Given the description of an element on the screen output the (x, y) to click on. 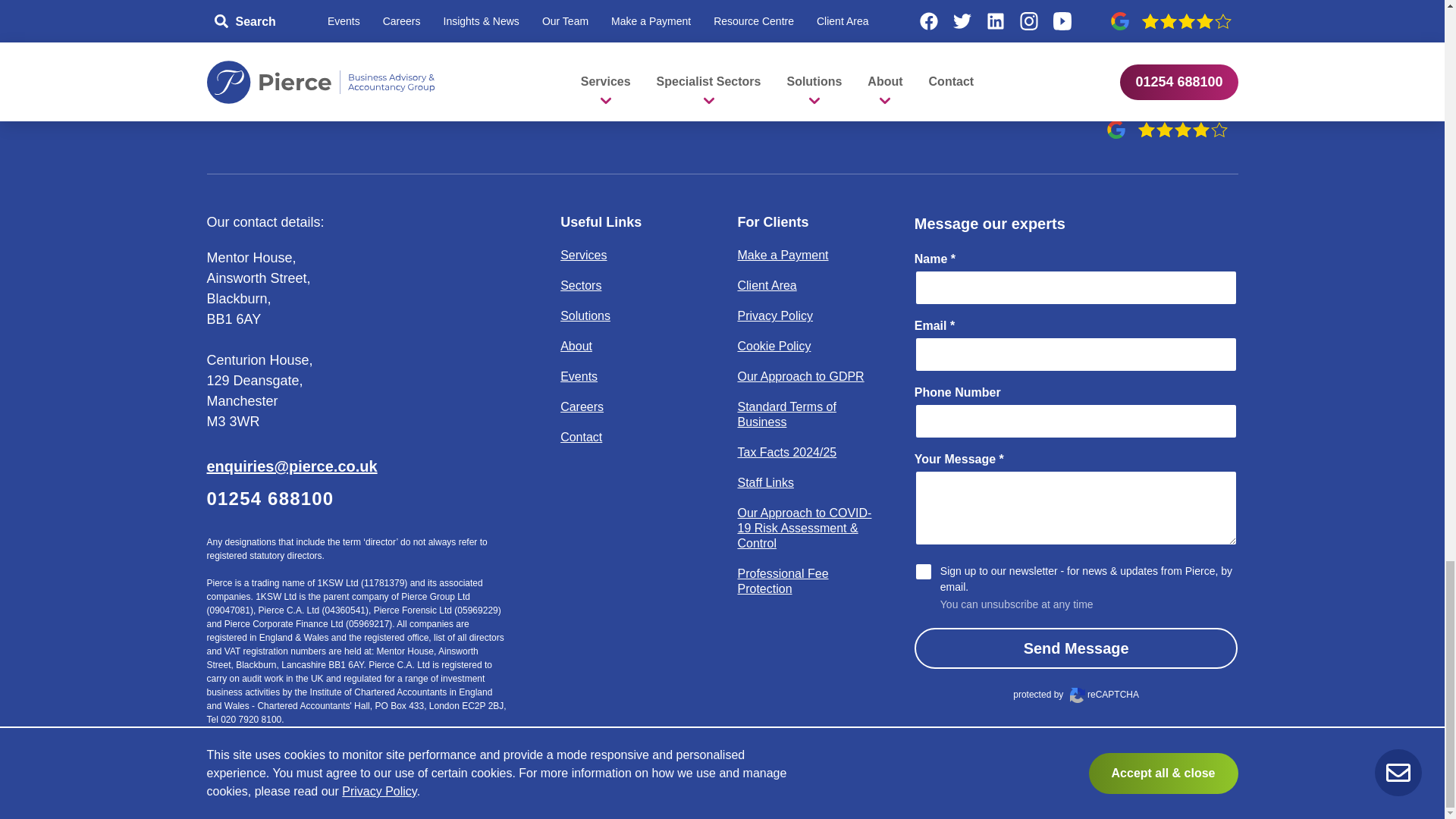
Pierce Business Advisory and Accountancy Group - Instagram (1158, 80)
Pierce Business Advisory and Accountancy Group - Youtube (1214, 80)
1 (923, 571)
Pierce Business Advisory and Accountancy Group - Linkedin (1104, 80)
Pierce Business Advisory and Accountancy Group - Facebook (995, 80)
Pierce Business Advisory and Accountancy Group - Twitter (1050, 80)
